Given the description of an element on the screen output the (x, y) to click on. 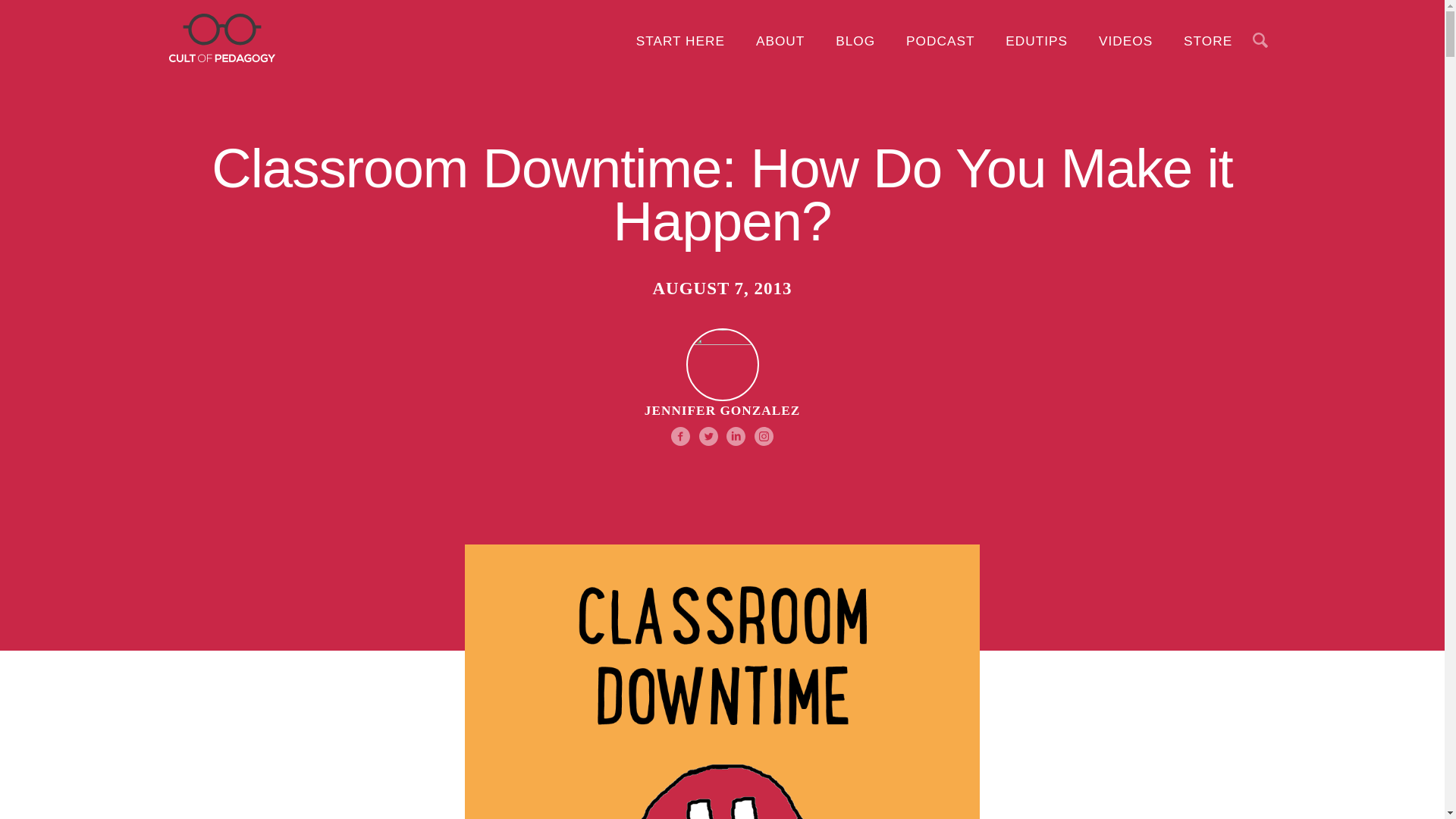
PODCAST (940, 40)
LinkedIn (90, 400)
VIDEOS (1126, 40)
Print (90, 440)
ABOUT (780, 40)
facebook (90, 322)
search (844, 272)
BLOG (855, 40)
START HERE (680, 40)
STORE (1208, 40)
twitter (90, 362)
JENNIFER GONZALEZ (722, 386)
EDUTIPS (1036, 40)
